Given the description of an element on the screen output the (x, y) to click on. 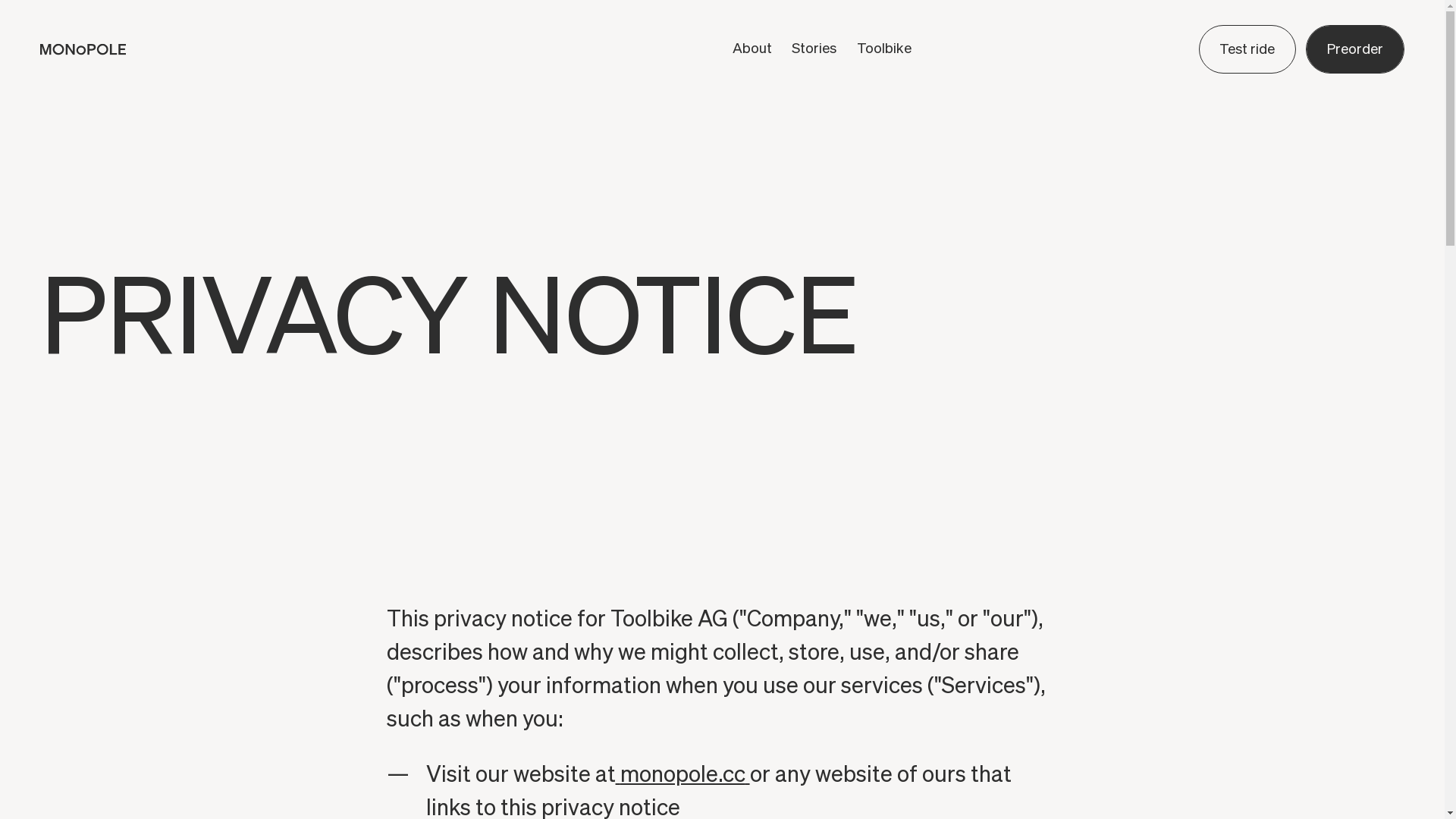
Stories Element type: text (813, 48)
Test ride Element type: text (1246, 49)
monopole.cc Element type: text (682, 775)
Preorder Element type: text (1354, 49)
Toolbike Element type: text (883, 48)
About Element type: text (751, 48)
